Given the description of an element on the screen output the (x, y) to click on. 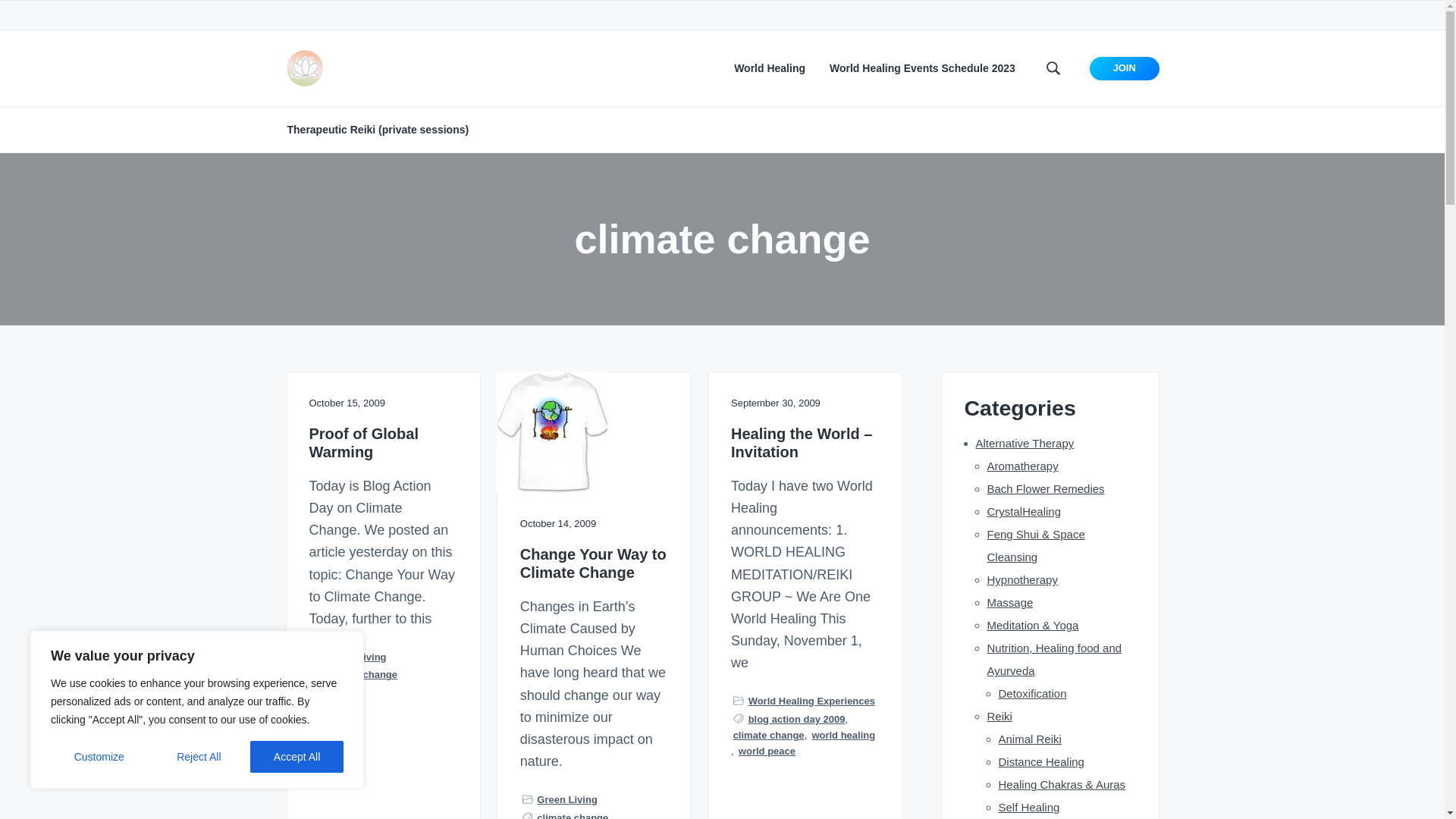
Green Living (355, 657)
climate change (361, 674)
Search (60, 18)
Accept All (296, 757)
World Healing (769, 67)
JOIN (1123, 68)
Green Living (566, 799)
Change Your Way to Climate Change (593, 563)
Proof of Global Warming (382, 443)
climate change (572, 814)
Customize (98, 757)
Reject All (198, 757)
World Healing Events Schedule 2023 (921, 67)
